Given the description of an element on the screen output the (x, y) to click on. 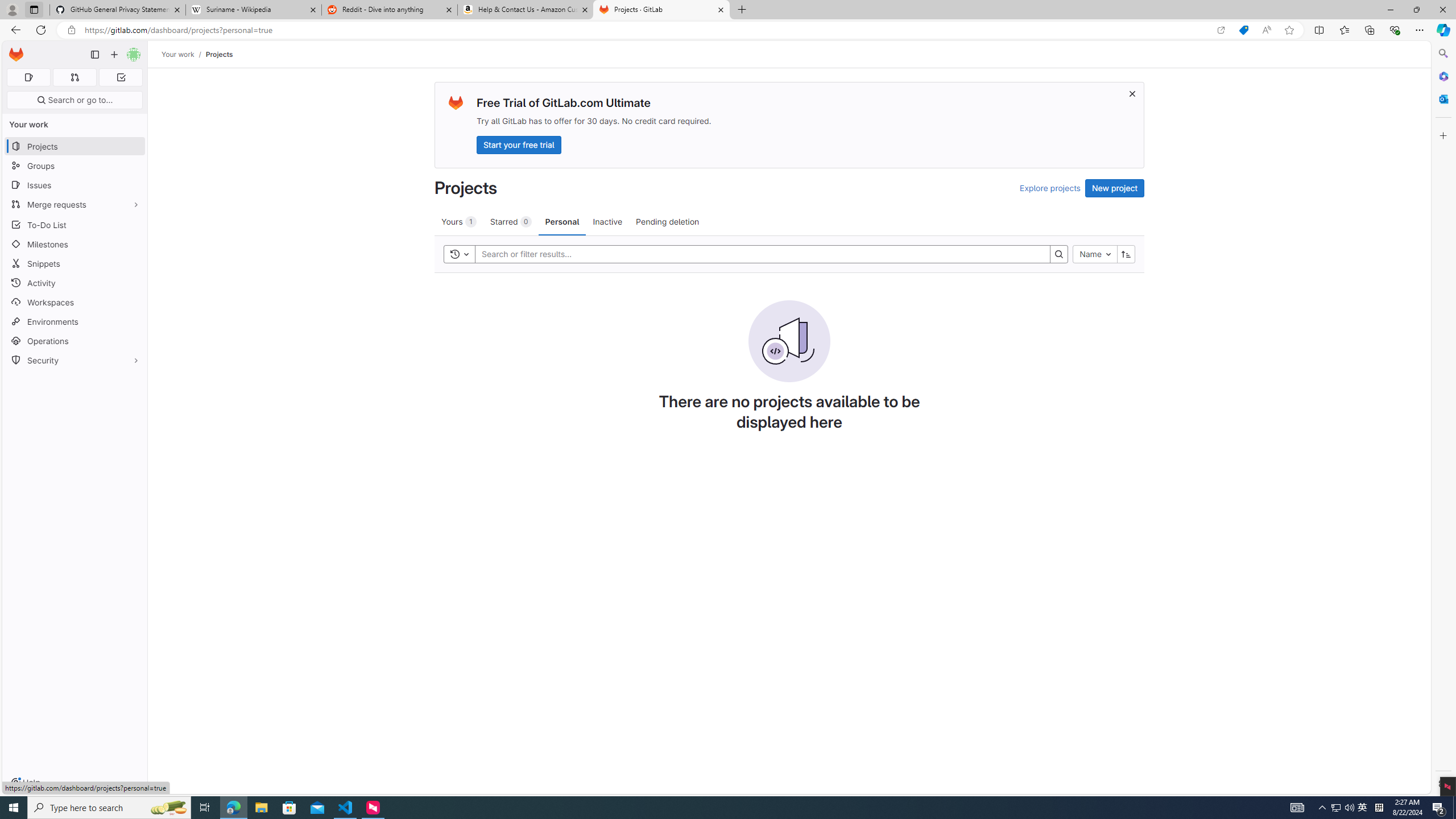
Starred 0 (510, 221)
Your work (178, 53)
Groups (74, 165)
Explore projects (1049, 187)
Operations (74, 340)
